Given the description of an element on the screen output the (x, y) to click on. 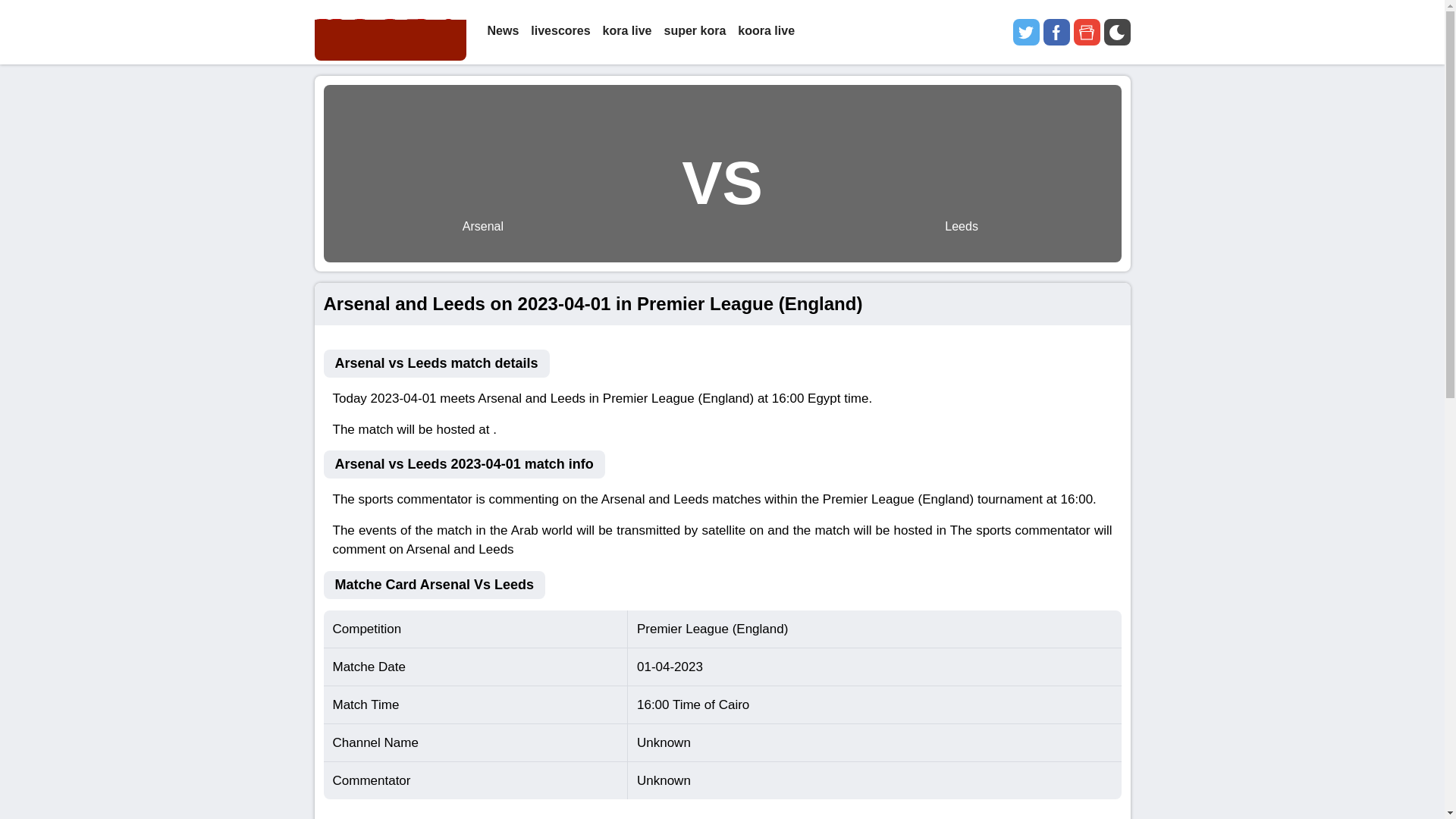
livescores (559, 31)
koora live (766, 31)
kora live (627, 31)
super kora (695, 31)
koora live English Free Live Sports Stream livekora (389, 32)
